Given the description of an element on the screen output the (x, y) to click on. 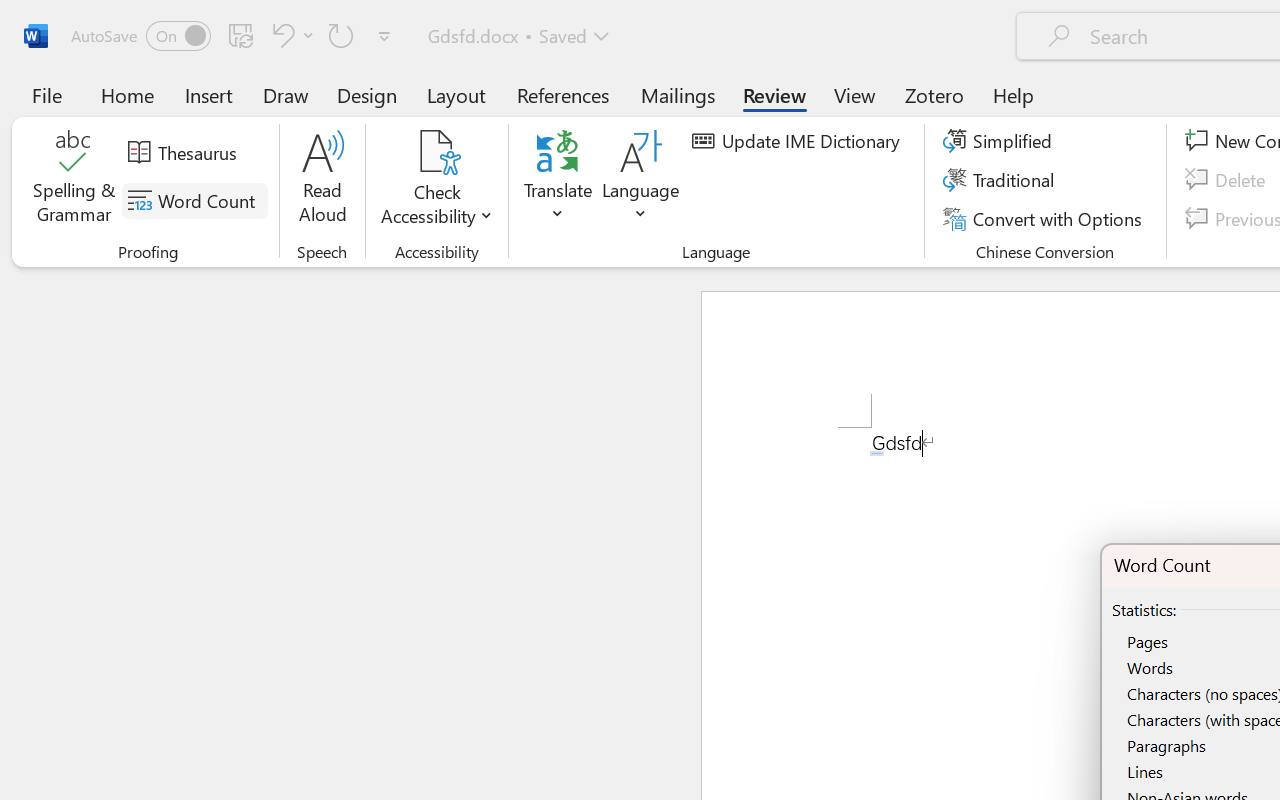
Action: Undo Auto Actions (877, 453)
Language (641, 179)
Undo AutoCorrect (290, 35)
Check Accessibility (436, 151)
Convert with Options... (1045, 218)
Word Count (194, 201)
Traditional (1001, 179)
